Given the description of an element on the screen output the (x, y) to click on. 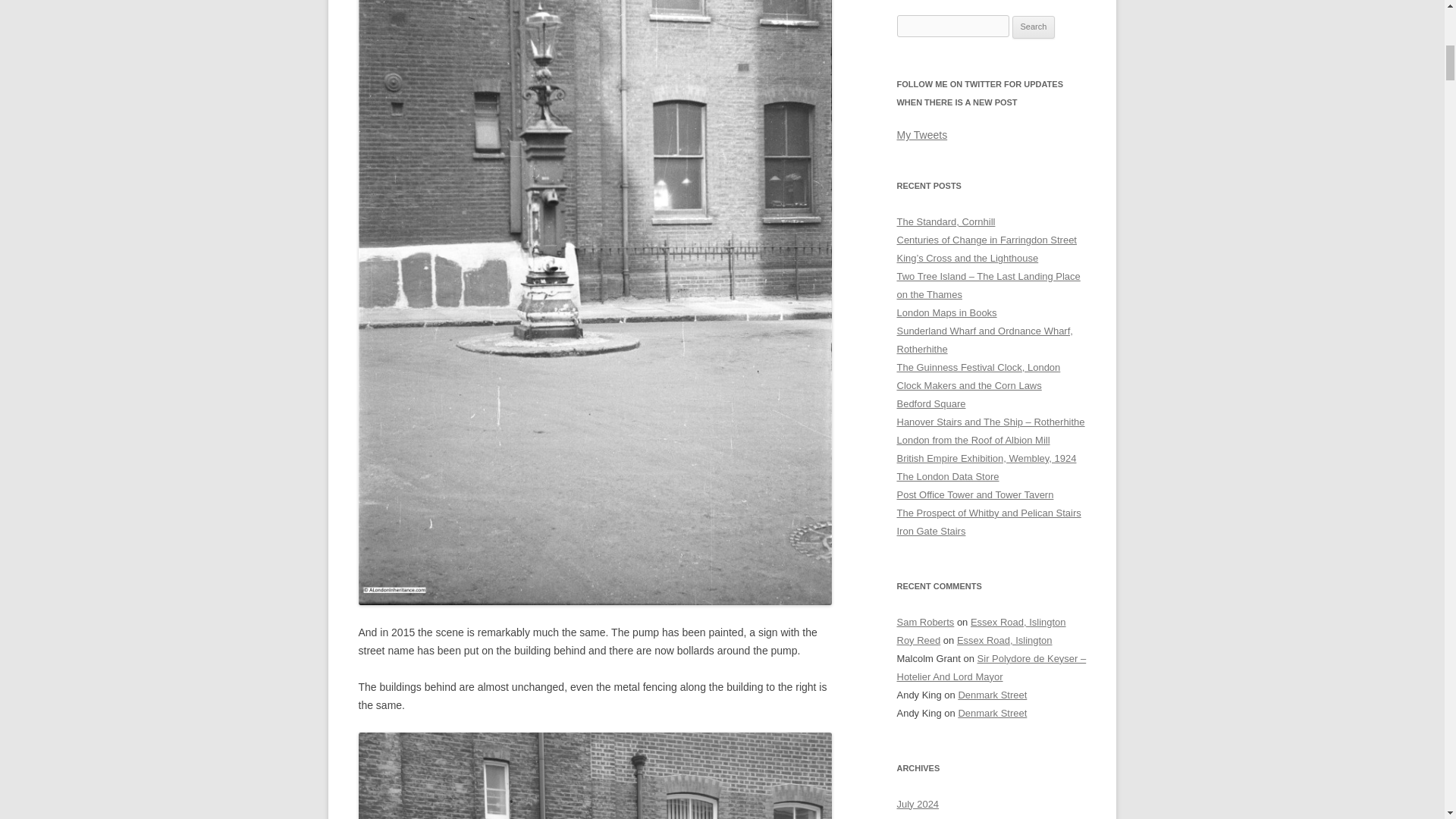
Search (1033, 26)
